Given the description of an element on the screen output the (x, y) to click on. 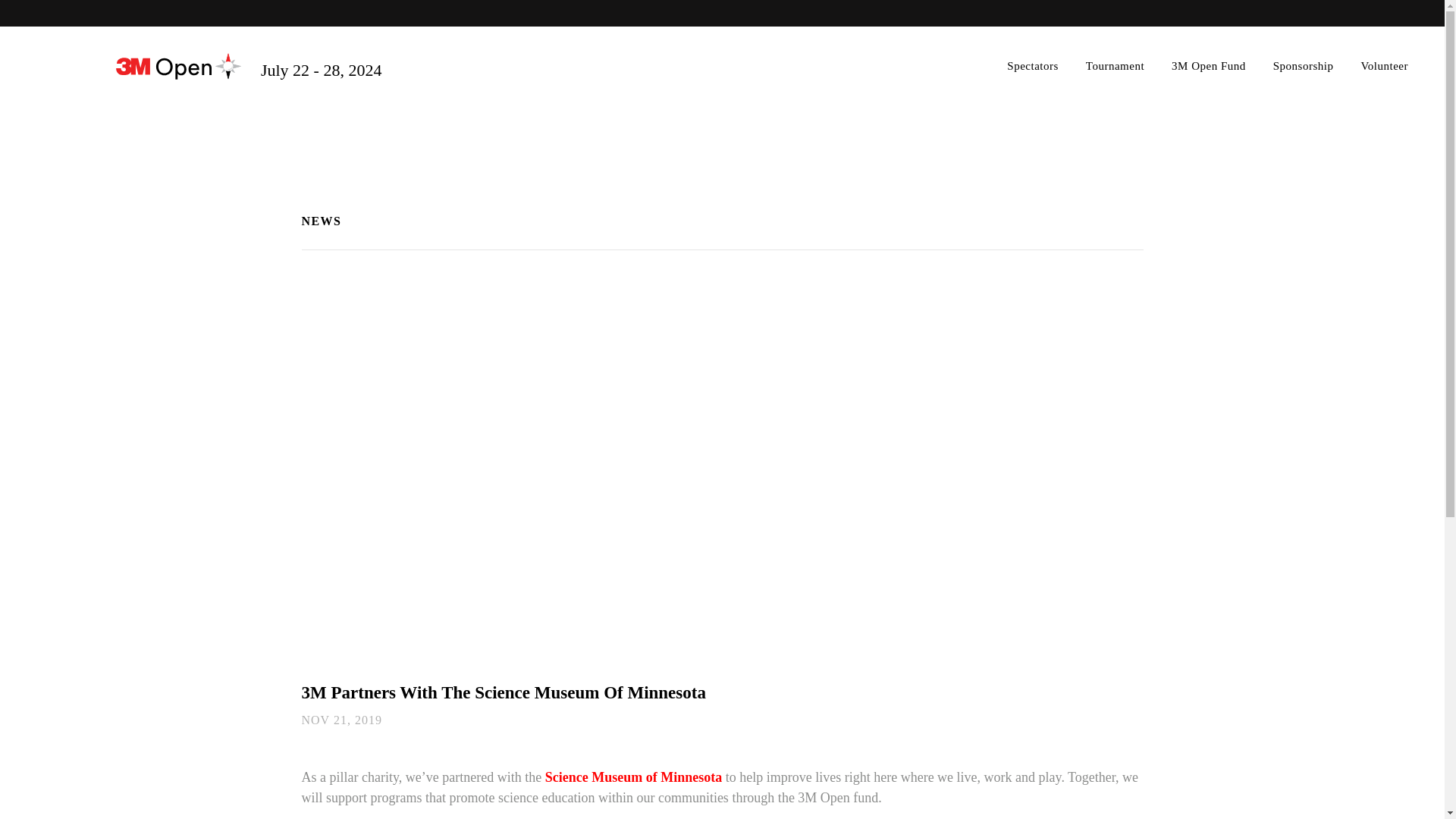
Science Museum of Minnesota Element type: text (633, 776)
Spectators Element type: text (1032, 65)
July 22 - 28, 2024 Element type: text (247, 66)
Sponsorship Element type: text (1303, 65)
Tournament Element type: text (1114, 65)
3M Open Fund Element type: text (1208, 65)
NEWS Element type: text (321, 220)
Volunteer Element type: text (1384, 65)
